Given the description of an element on the screen output the (x, y) to click on. 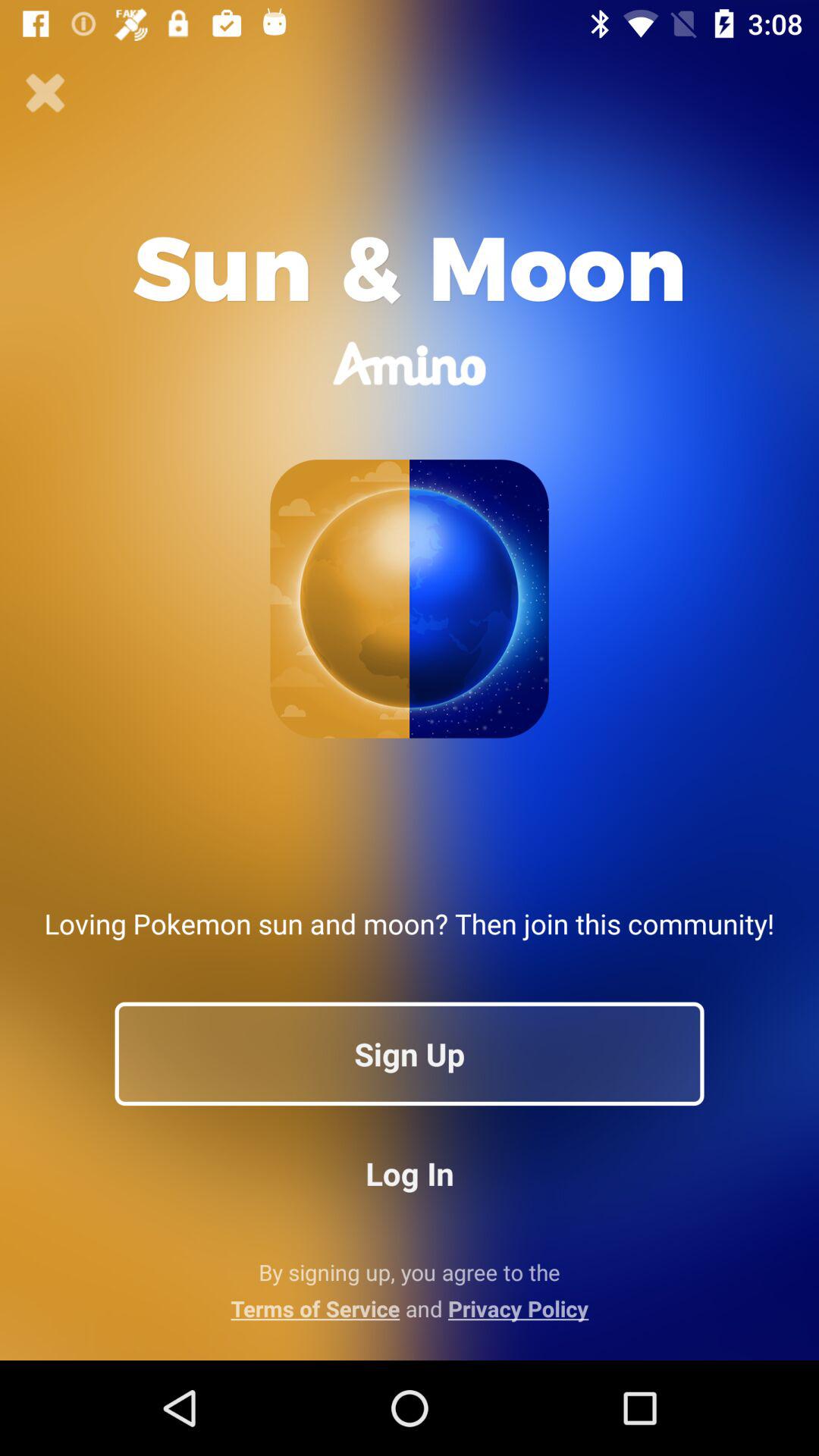
tap log in icon (409, 1173)
